Given the description of an element on the screen output the (x, y) to click on. 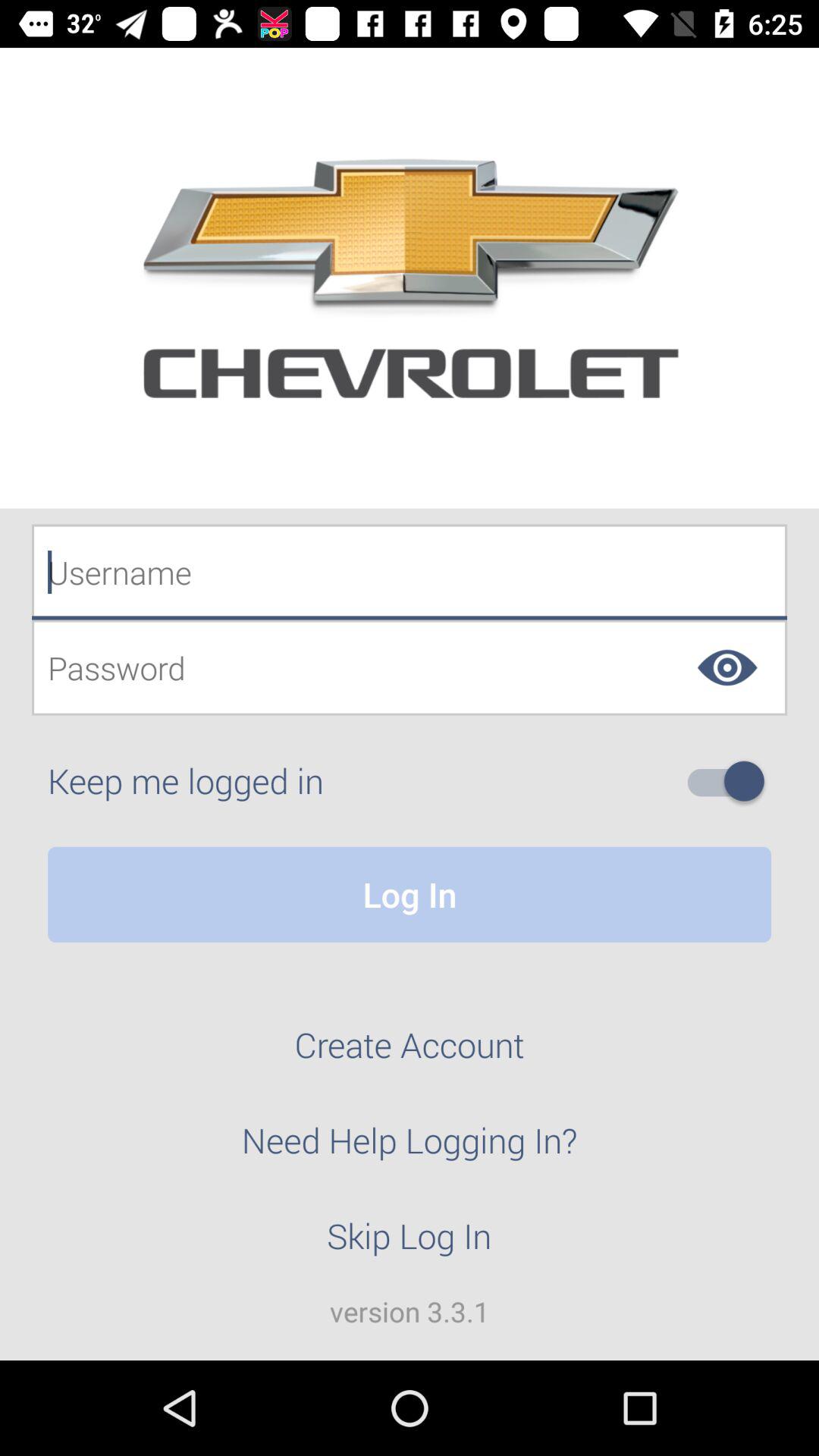
click icon above the need help logging (409, 1053)
